Given the description of an element on the screen output the (x, y) to click on. 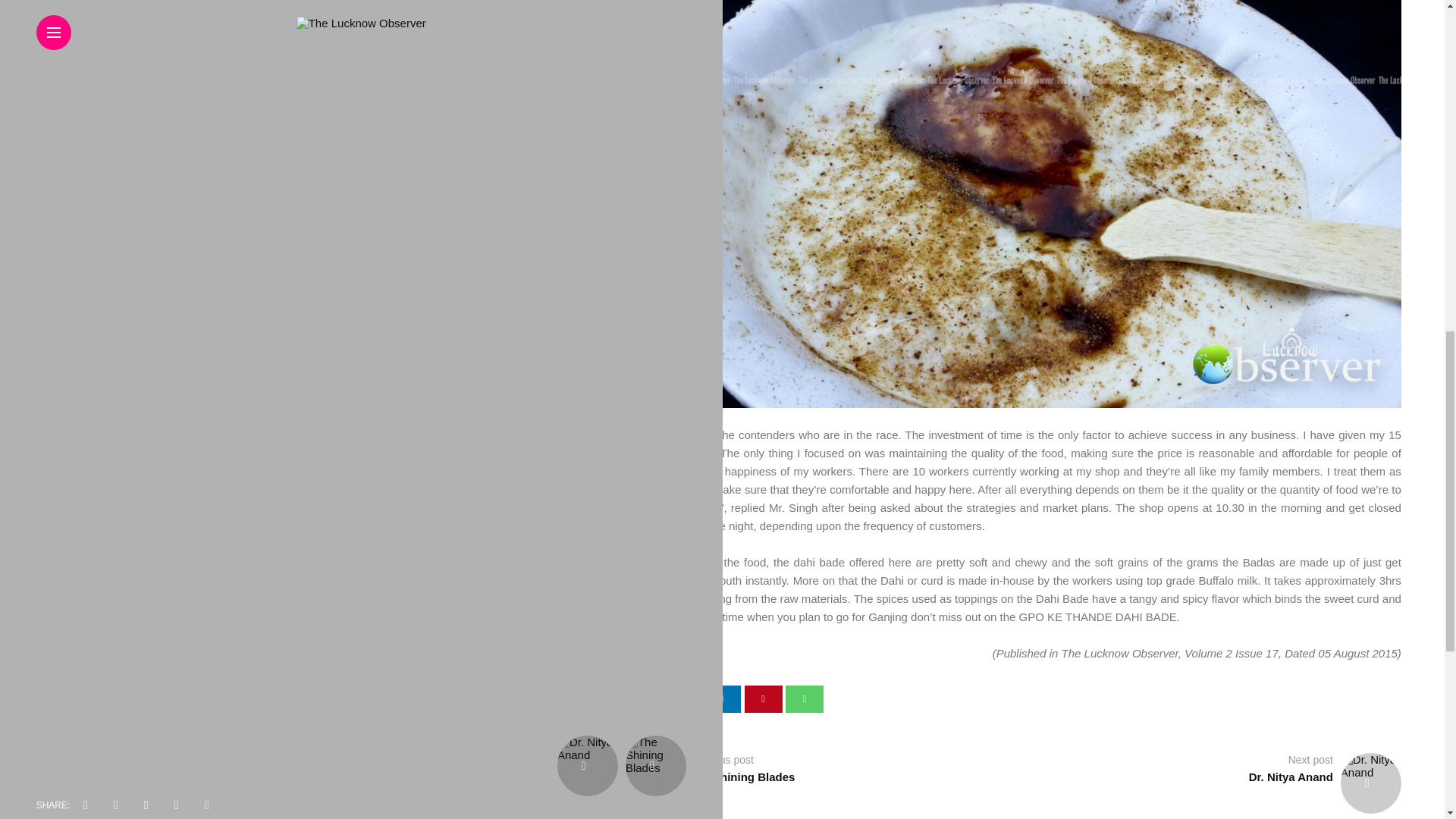
facebook (640, 698)
pinterest (763, 698)
twitter (681, 698)
